Given the description of an element on the screen output the (x, y) to click on. 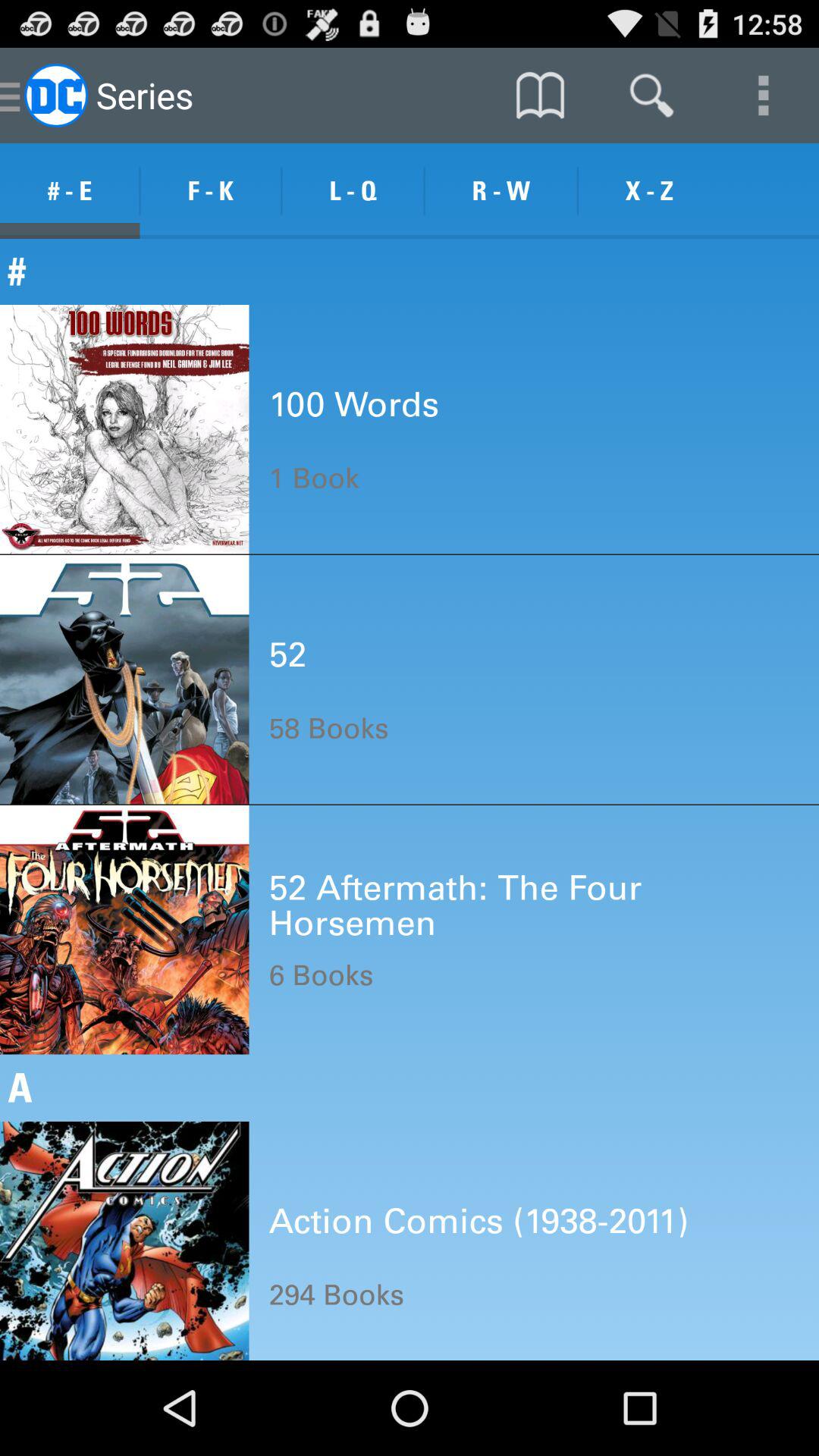
choose icon above # item (649, 190)
